Given the description of an element on the screen output the (x, y) to click on. 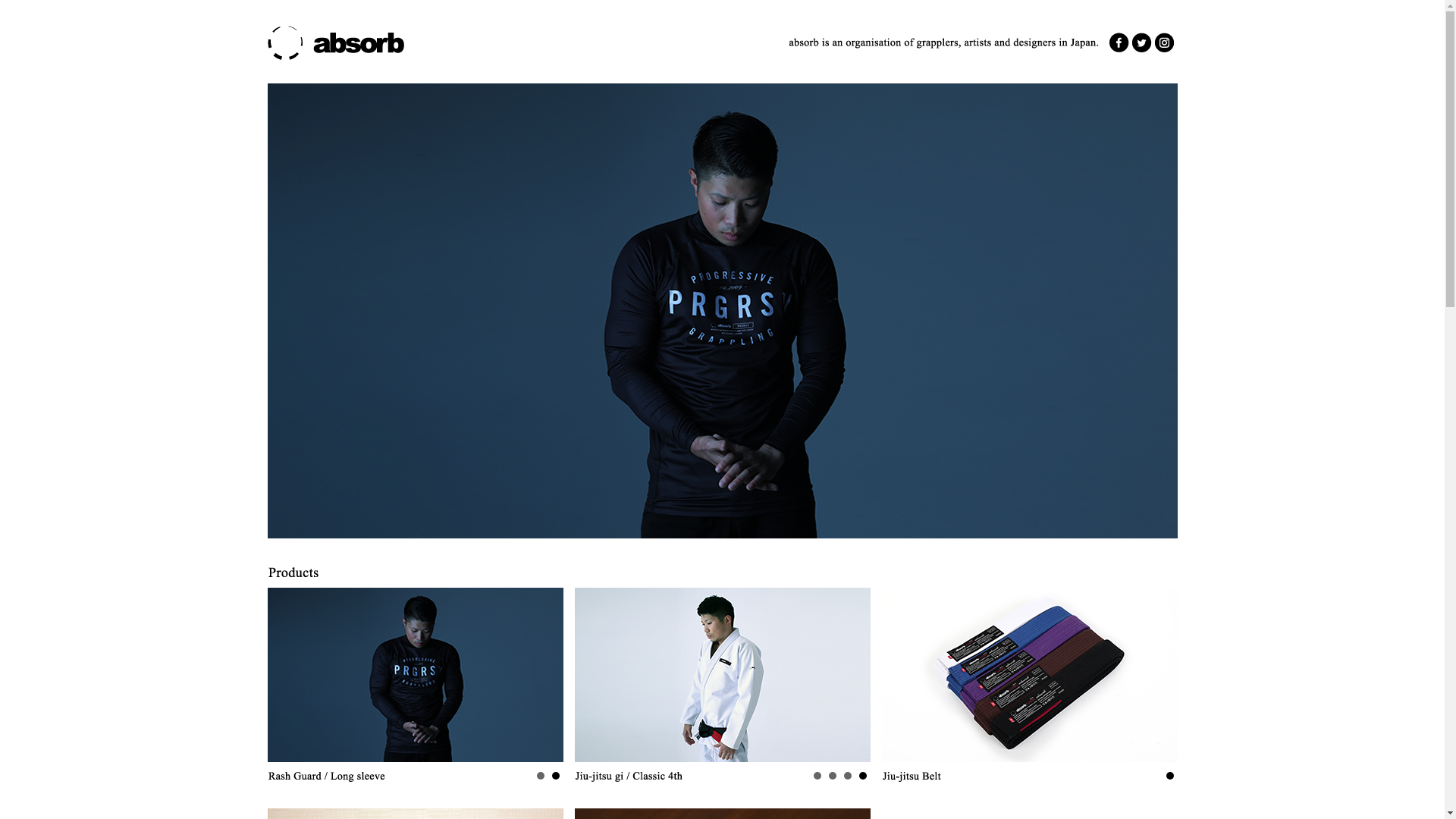
1 Element type: text (862, 775)
4 Element type: text (816, 775)
Prev Element type: text (286, 674)
Next Element type: text (542, 674)
3 Element type: text (831, 775)
2 Element type: text (846, 775)
1 Element type: text (1169, 775)
Next Element type: text (850, 674)
1 Element type: text (555, 775)
Prev Element type: text (594, 674)
2 Element type: text (540, 775)
